Given the description of an element on the screen output the (x, y) to click on. 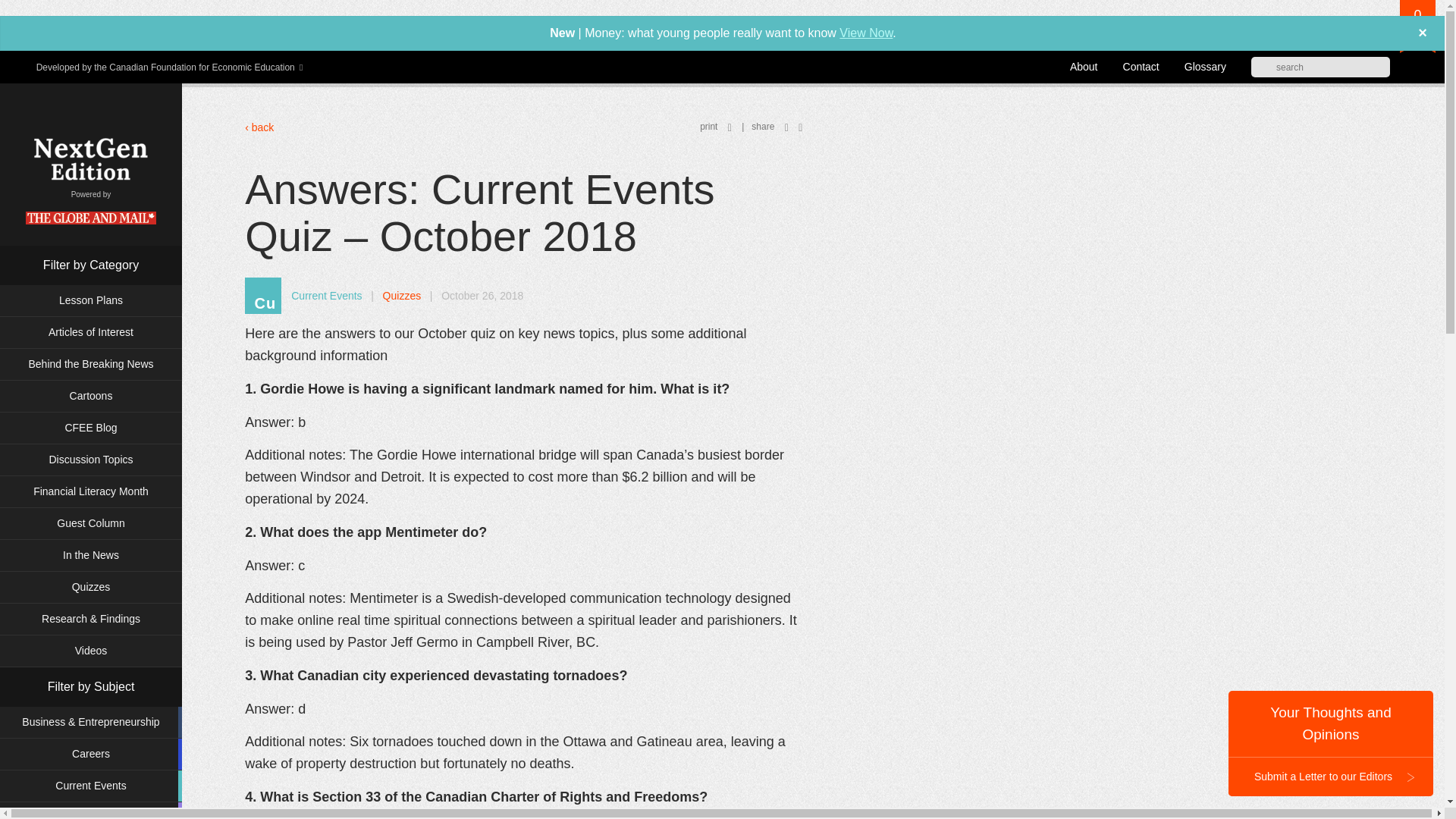
0 (1417, 27)
Guest Column (91, 522)
Articles of Interest (91, 332)
Financial Literacy Month (91, 490)
Current Events (91, 785)
View Now (866, 32)
Videos (91, 650)
Discussion Topics (91, 459)
Glossary (1205, 66)
Careers (91, 753)
Quizzes (91, 586)
CFEE Blog (91, 427)
About (1083, 66)
Cartoons (91, 395)
Lesson Plans (91, 300)
